Given the description of an element on the screen output the (x, y) to click on. 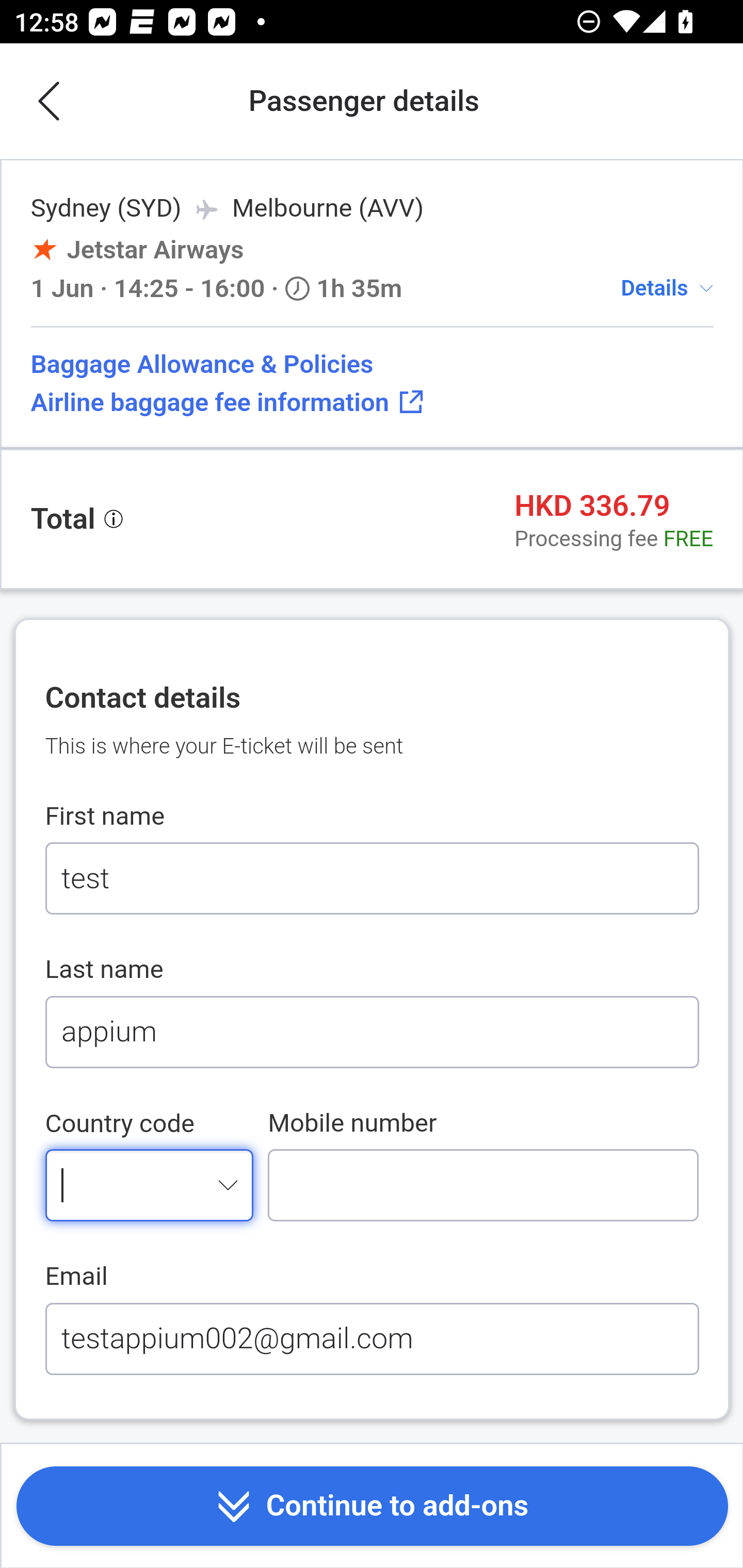
Back (51, 101)
Details (654, 287)
Baggage Allowance & Policies (371, 364)
Airline baggage fee information (371, 401)
Total HKD 336.79 Processing fee FREE (371, 518)
test (371, 878)
appium (371, 1031)
testappium002@gmail.com (371, 1338)
Continue to add-ons (371, 1506)
